Given the description of an element on the screen output the (x, y) to click on. 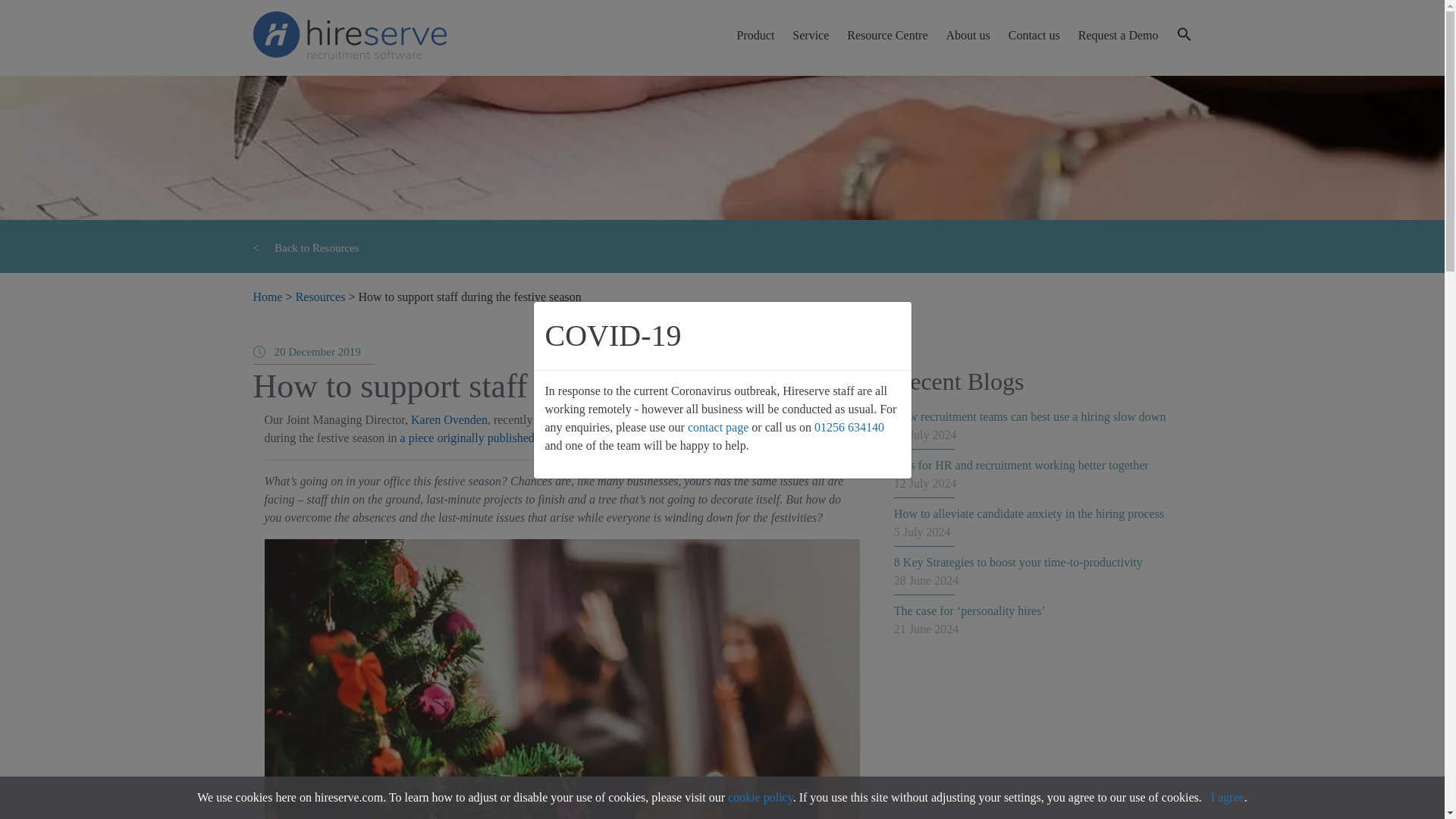
Service (810, 34)
Resources (320, 296)
Resource Centre (887, 34)
About us (968, 34)
Contact us (1034, 34)
Home (267, 296)
Home (267, 296)
Request a Demo (1118, 34)
Resources (320, 296)
Karen Ovenden (448, 419)
Product (755, 34)
